Given the description of an element on the screen output the (x, y) to click on. 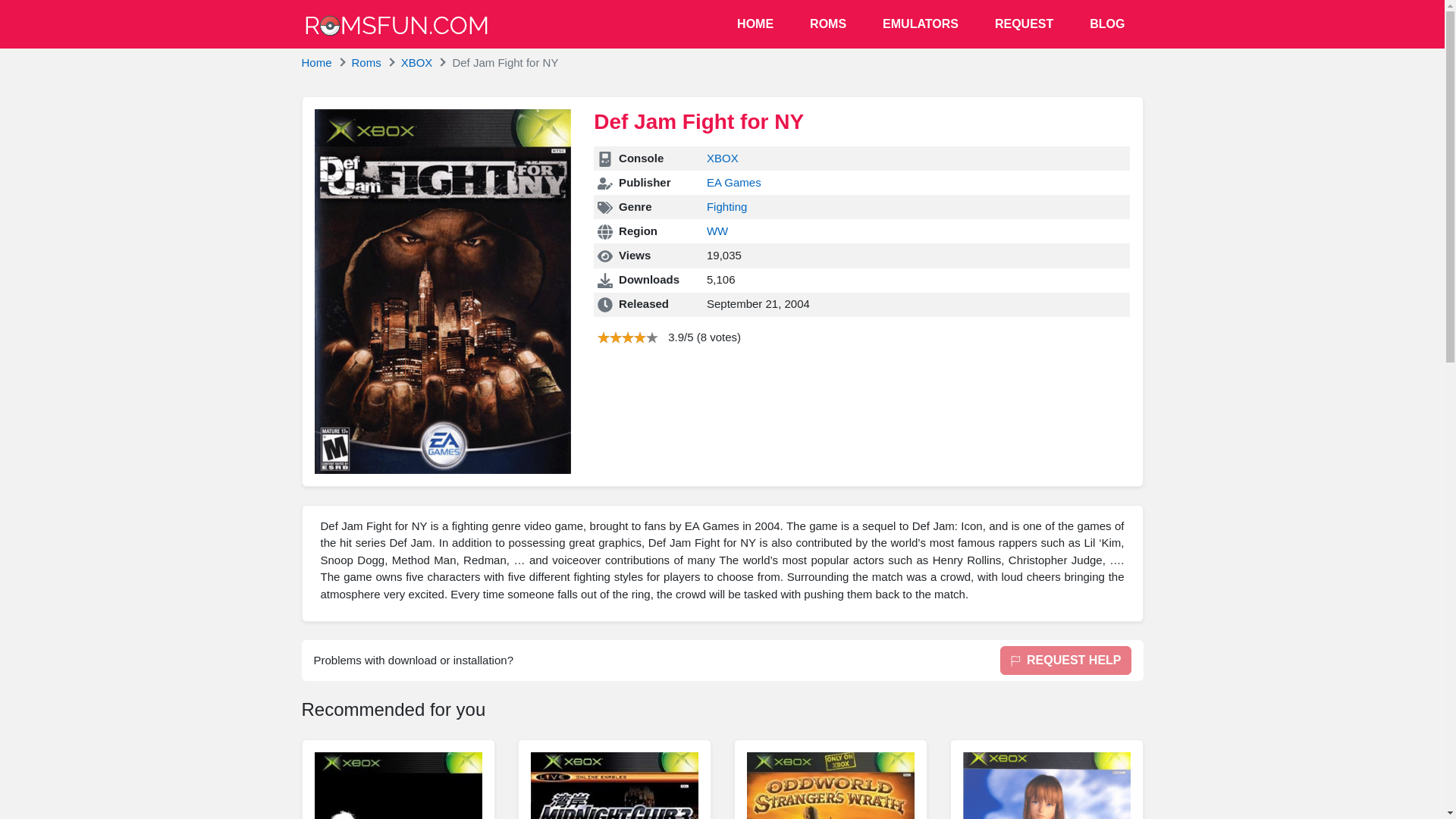
REQUEST (1023, 24)
Fighting (726, 205)
XBOX (416, 62)
WW (717, 230)
EMULATORS (920, 24)
BLOG (1106, 24)
REQUEST HELP (1065, 660)
The Godfather (397, 785)
Roms (366, 62)
ROMSFUN.COM (396, 25)
EA Games (733, 182)
Home (316, 62)
Midnight Club 3 (614, 785)
XBOX (722, 157)
